Given the description of an element on the screen output the (x, y) to click on. 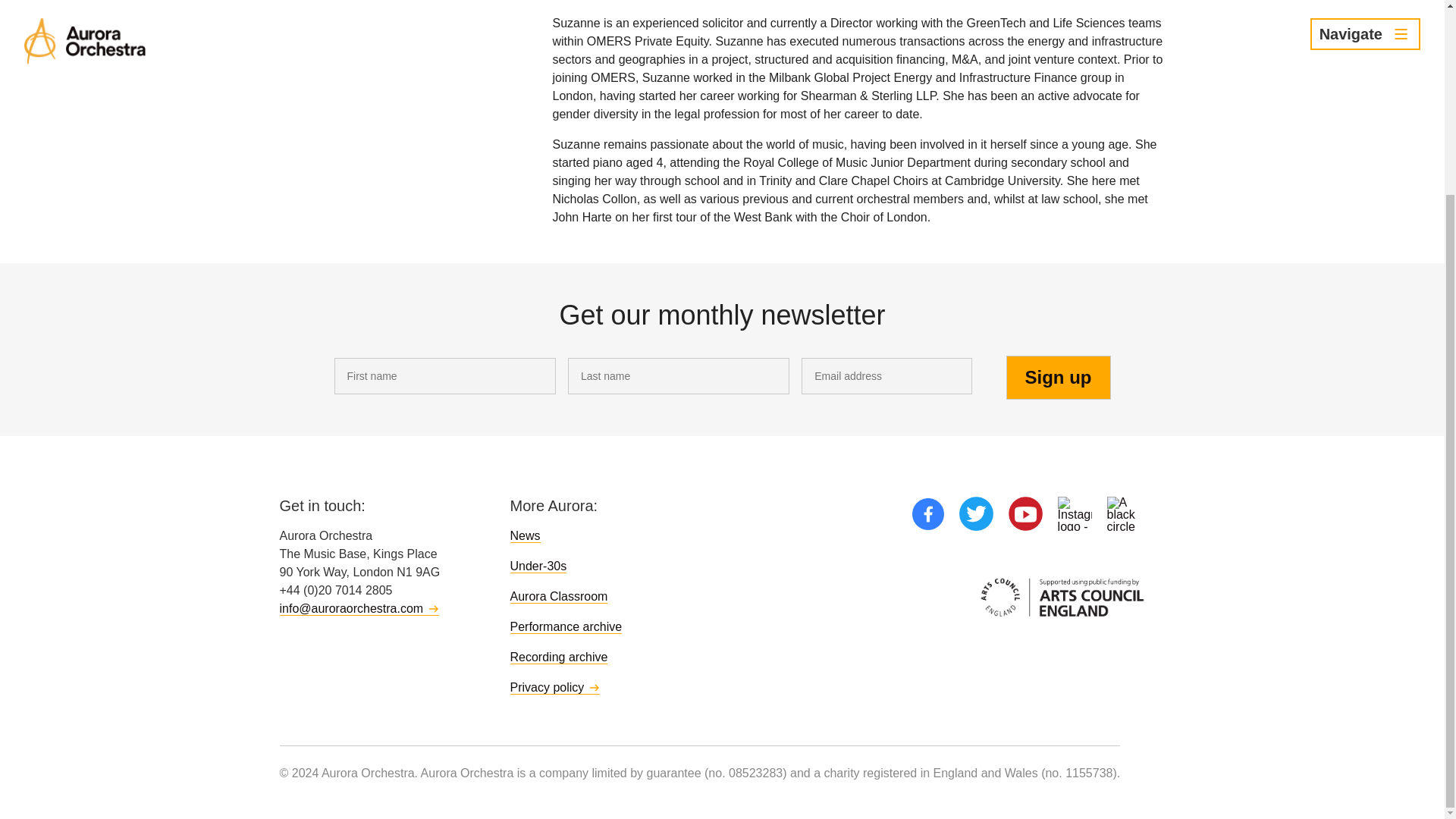
Sign up (1058, 377)
Performance archive (565, 626)
Aurora Classroom (558, 596)
News (524, 535)
Under-30s (537, 566)
Sign up (1058, 377)
Recording archive (558, 657)
Privacy policy (554, 687)
